Given the description of an element on the screen output the (x, y) to click on. 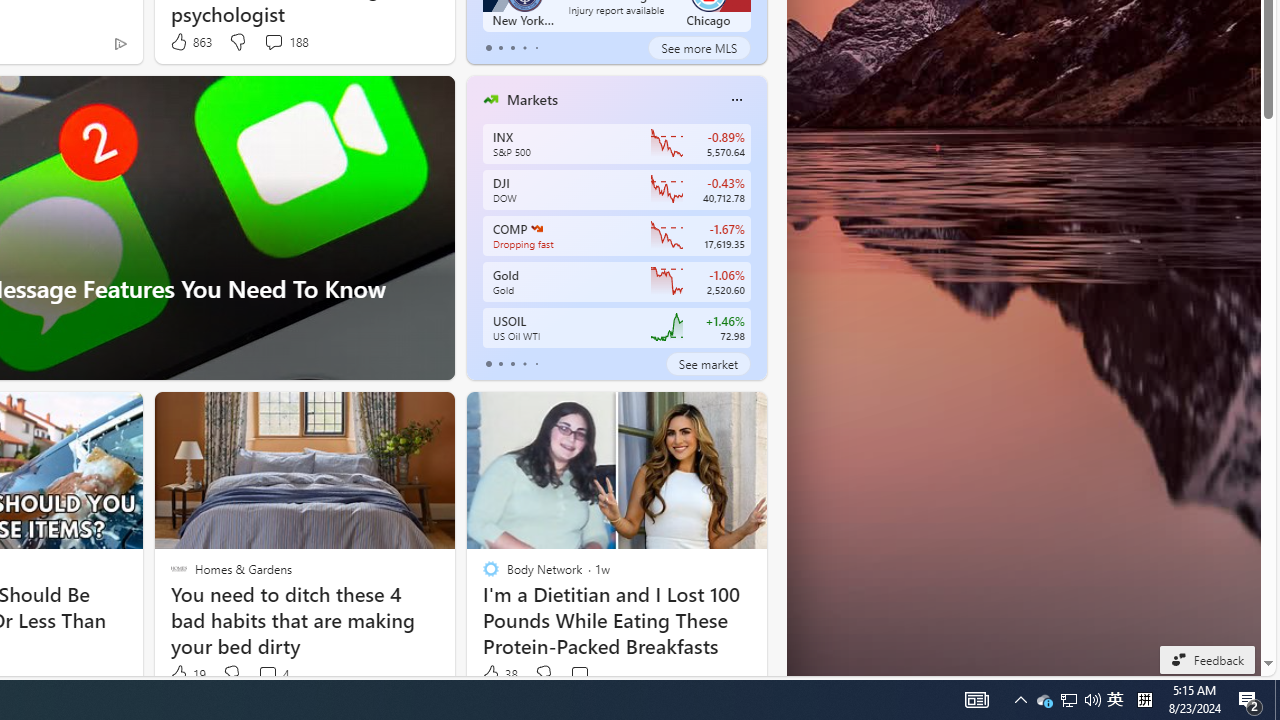
tab-0 (488, 363)
Class: icon-img (736, 100)
tab-3 (524, 363)
Markets (531, 99)
View comments 4 Comment (272, 674)
863 Like (190, 42)
19 Like (186, 674)
tab-4 (535, 363)
